Given the description of an element on the screen output the (x, y) to click on. 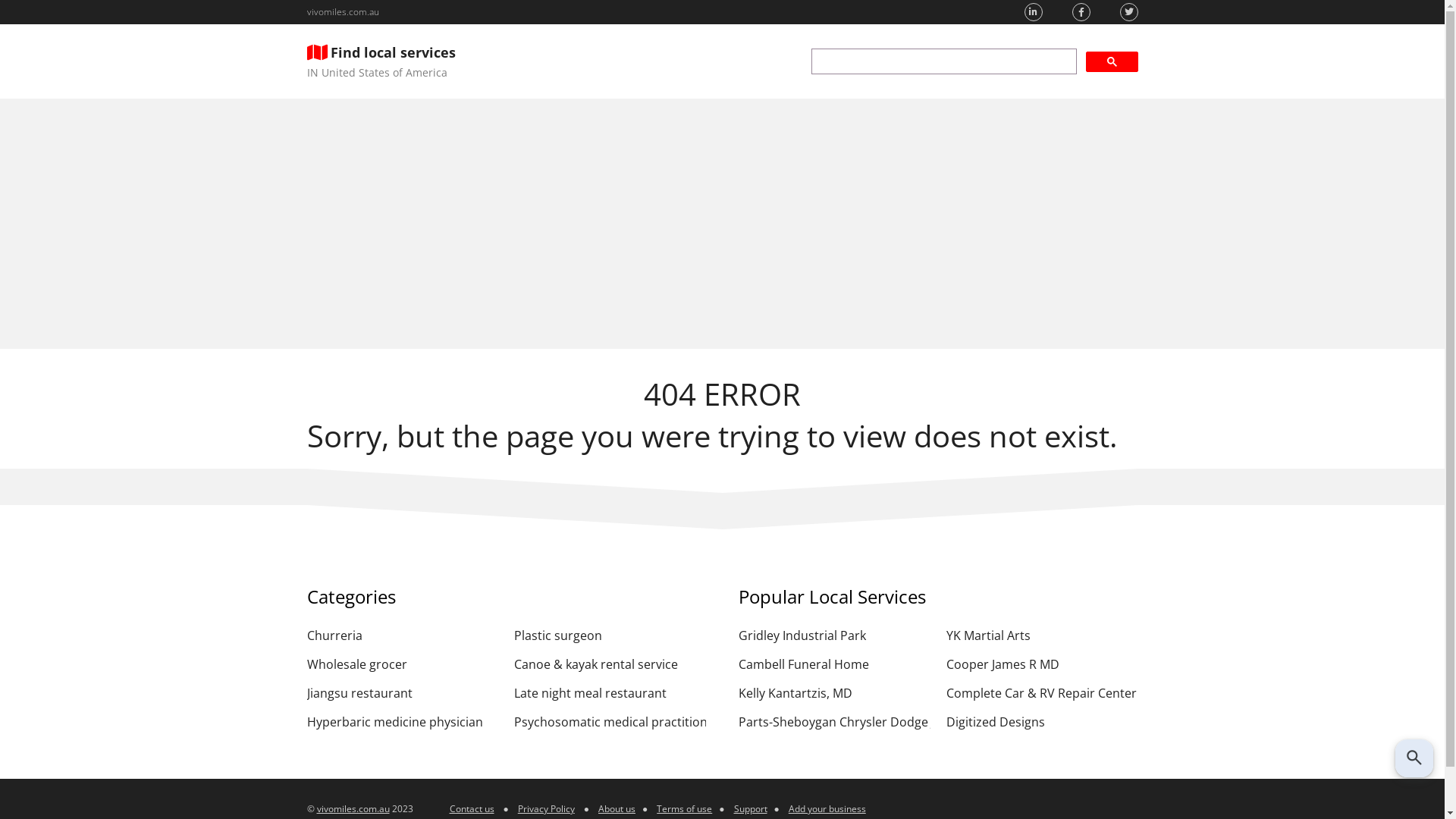
Late night meal restaurant Element type: text (610, 692)
Complete Car & RV Repair Center Element type: text (1042, 692)
Churreria Element type: text (402, 635)
Cooper James R MD Element type: text (1042, 663)
Canoe & kayak rental service Element type: text (610, 663)
Digitized Designs Element type: text (1042, 721)
Contact us Element type: text (470, 808)
Support Element type: text (750, 808)
Plastic surgeon Element type: text (610, 635)
Wholesale grocer Element type: text (402, 663)
Terms of use Element type: text (684, 808)
Hyperbaric medicine physician Element type: text (402, 721)
Kelly Kantartzis, MD Element type: text (834, 692)
Add your business Element type: text (827, 808)
Find local services
IN United States of America Element type: text (380, 61)
Privacy Policy Element type: text (545, 808)
Cambell Funeral Home Element type: text (834, 663)
Jiangsu restaurant Element type: text (402, 692)
Parts-Sheboygan Chrysler Dodge Jeep RAM Element type: text (834, 721)
Psychosomatic medical practitioner Element type: text (610, 721)
About us Element type: text (616, 808)
search Element type: hover (943, 61)
vivomiles.com.au Element type: text (352, 808)
Advertisement Element type: hover (721, 223)
Gridley Industrial Park Element type: text (834, 635)
YK Martial Arts Element type: text (1042, 635)
vivomiles.com.au Element type: text (342, 12)
